Given the description of an element on the screen output the (x, y) to click on. 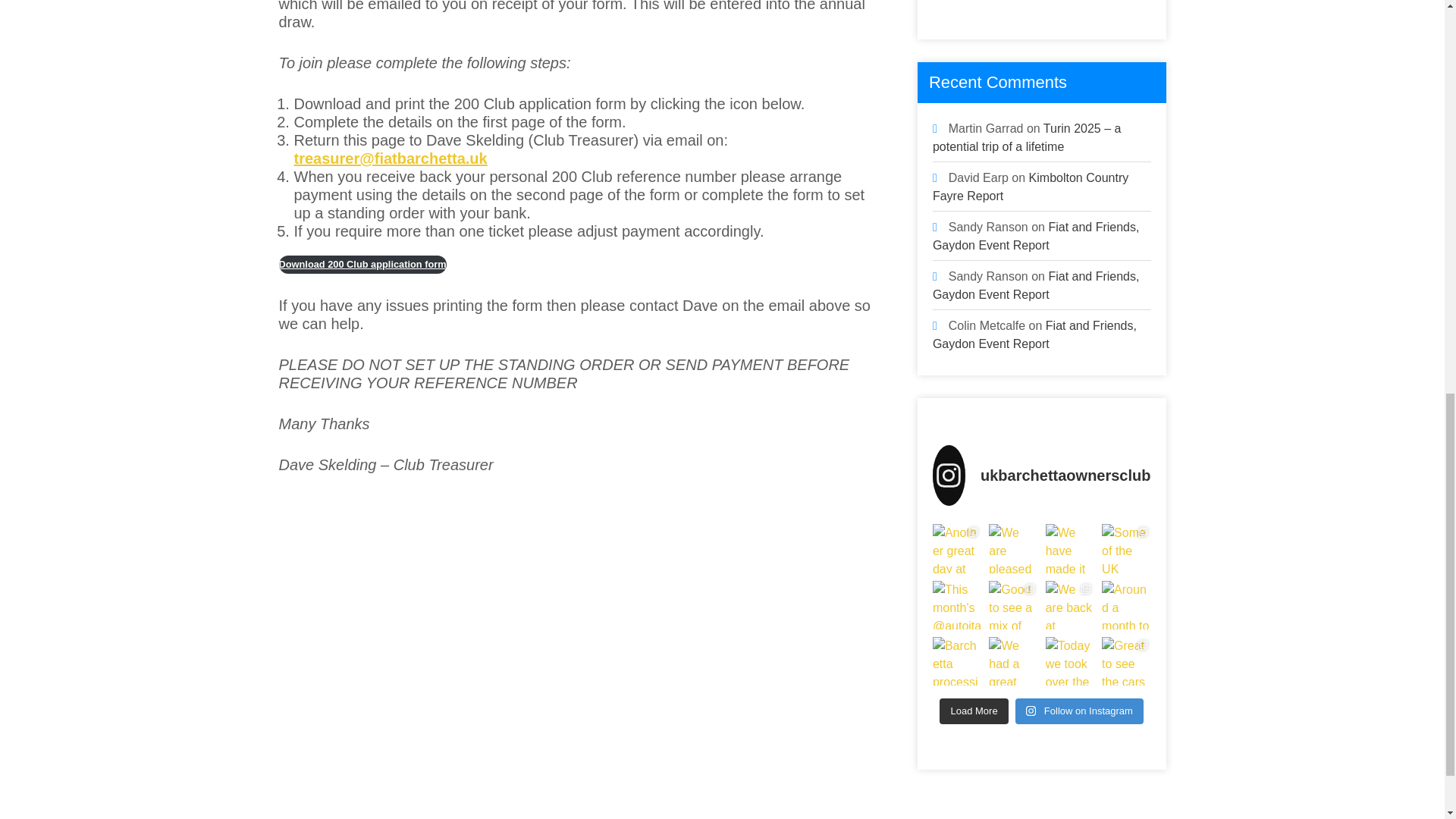
Fiat and Friends, Gaydon Event Report (1036, 285)
Fiat and Friends, Gaydon Event Report (1036, 235)
ukbarchettaownersclub (1042, 475)
Download 200 Club application form (362, 264)
Fiat and Friends, Gaydon Event Report (1035, 334)
Kimbolton Country Fayre Report (1030, 186)
